Given the description of an element on the screen output the (x, y) to click on. 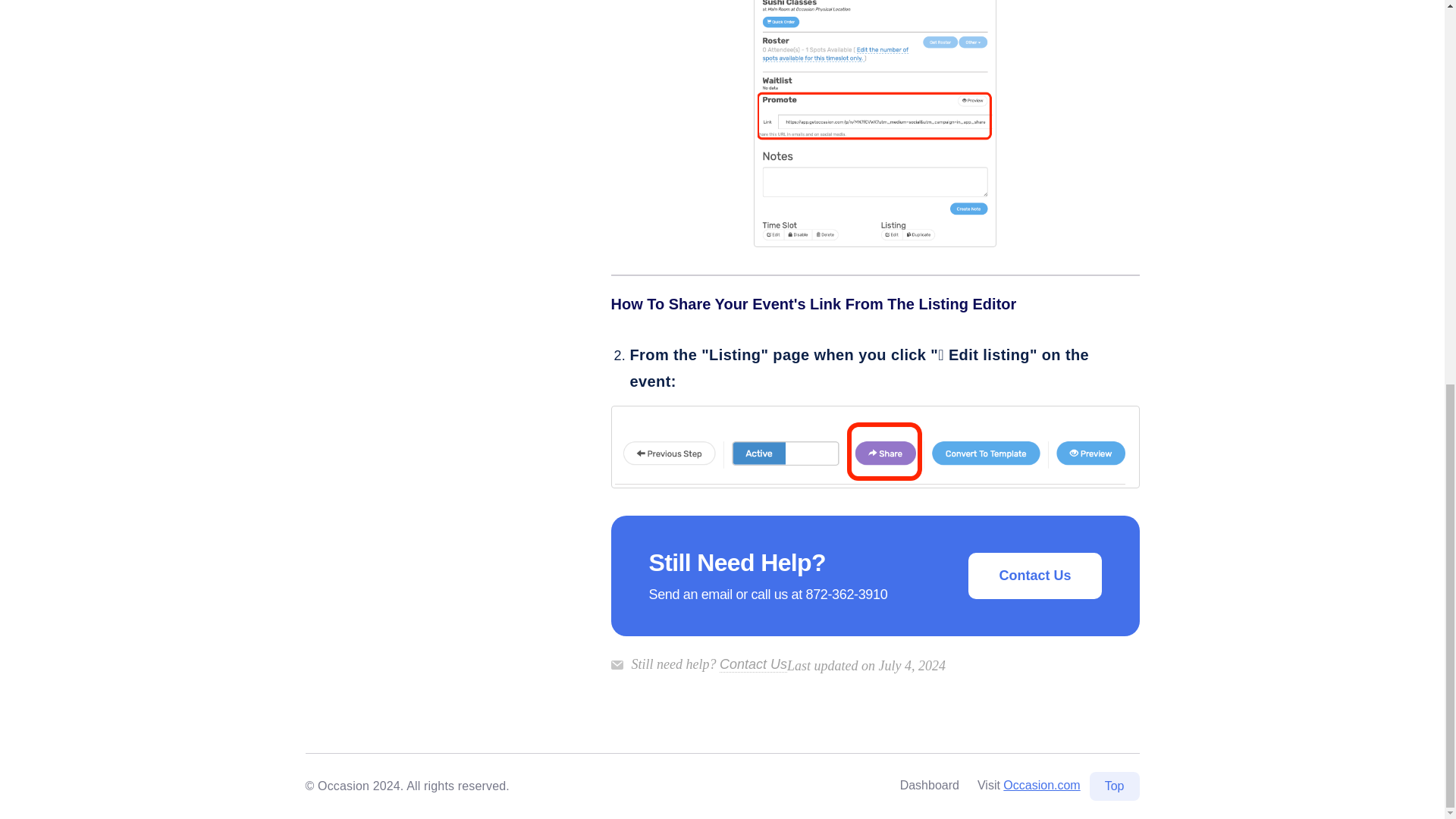
Top (1114, 786)
Top (1114, 786)
Visit Occasion.com (1028, 784)
Top (1114, 786)
Contact Us (753, 664)
Dashboard (929, 784)
Contact Us (1034, 575)
